Given the description of an element on the screen output the (x, y) to click on. 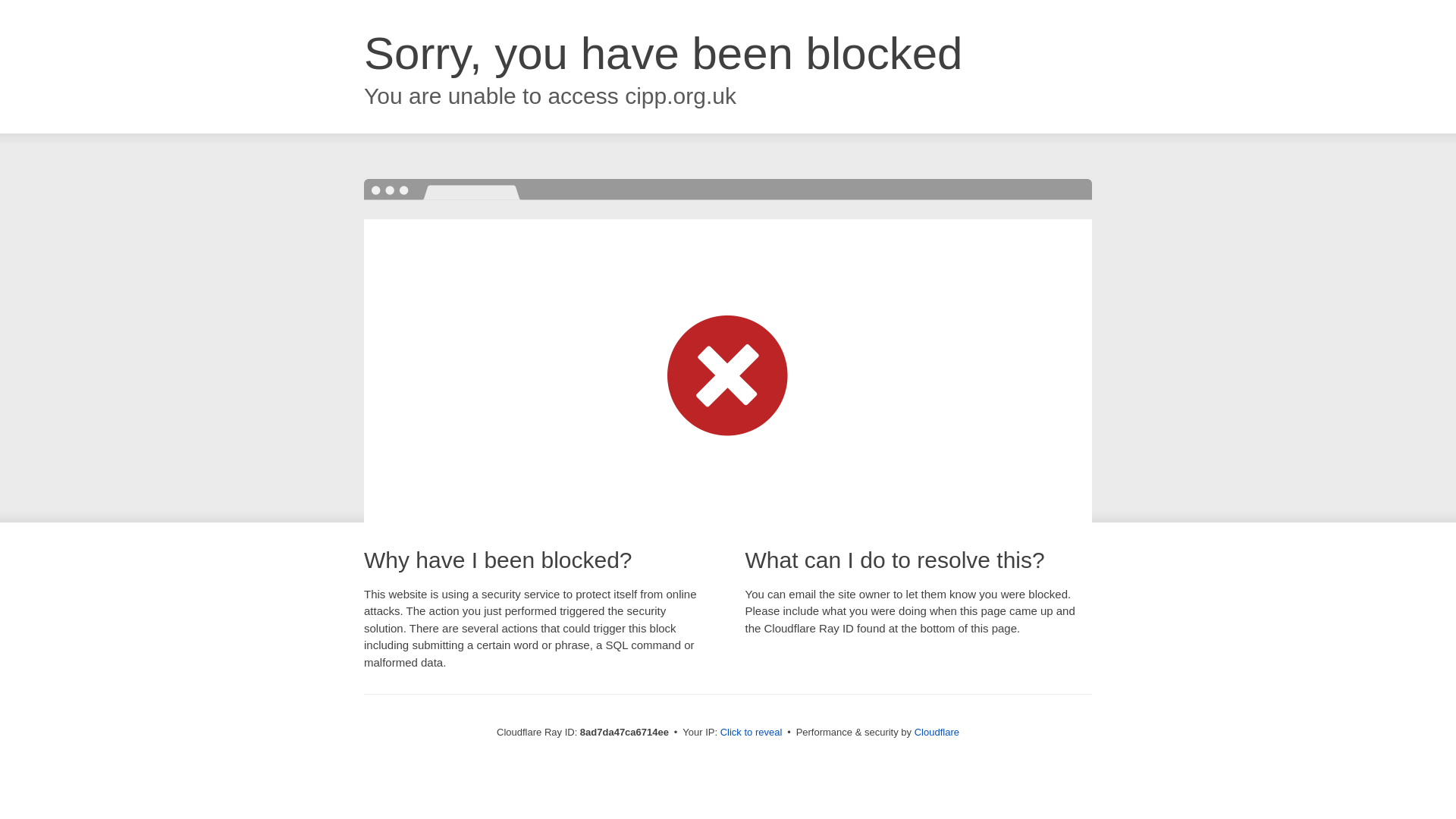
Click to reveal (751, 732)
Cloudflare (936, 731)
